Given the description of an element on the screen output the (x, y) to click on. 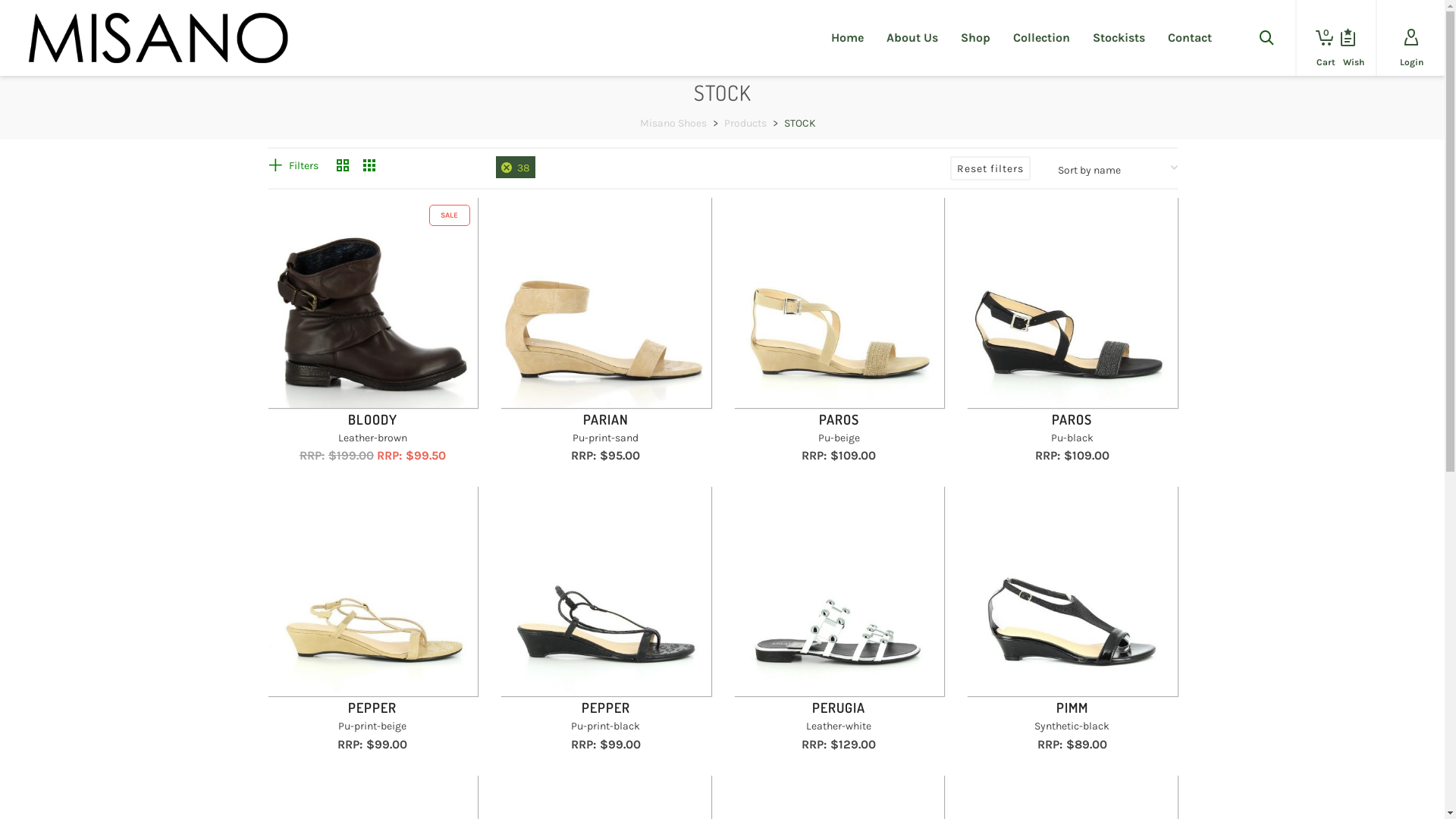
Home Element type: text (847, 37)
Standard Layout Element type: hover (342, 166)
PAROS Element type: text (839, 419)
Filters Element type: text (291, 165)
PEPPER Element type: text (372, 707)
38 Element type: text (515, 167)
Contact Element type: text (1189, 37)
PIMM Element type: text (1072, 707)
BLOODY Element type: text (372, 419)
Misano Shoes Element type: text (673, 122)
0 Element type: text (1319, 37)
Products Element type: text (745, 122)
Shop Element type: text (975, 37)
About Us Element type: text (912, 37)
PERUGIA Element type: text (838, 707)
Reset filters Element type: text (989, 168)
Stockists Element type: text (1118, 37)
PEPPER Element type: text (605, 707)
PAROS Element type: text (1071, 419)
Grid Layout Element type: hover (368, 166)
Collection Element type: text (1041, 37)
PARIAN Element type: text (605, 419)
View your wishlist Element type: hover (1347, 37)
